Given the description of an element on the screen output the (x, y) to click on. 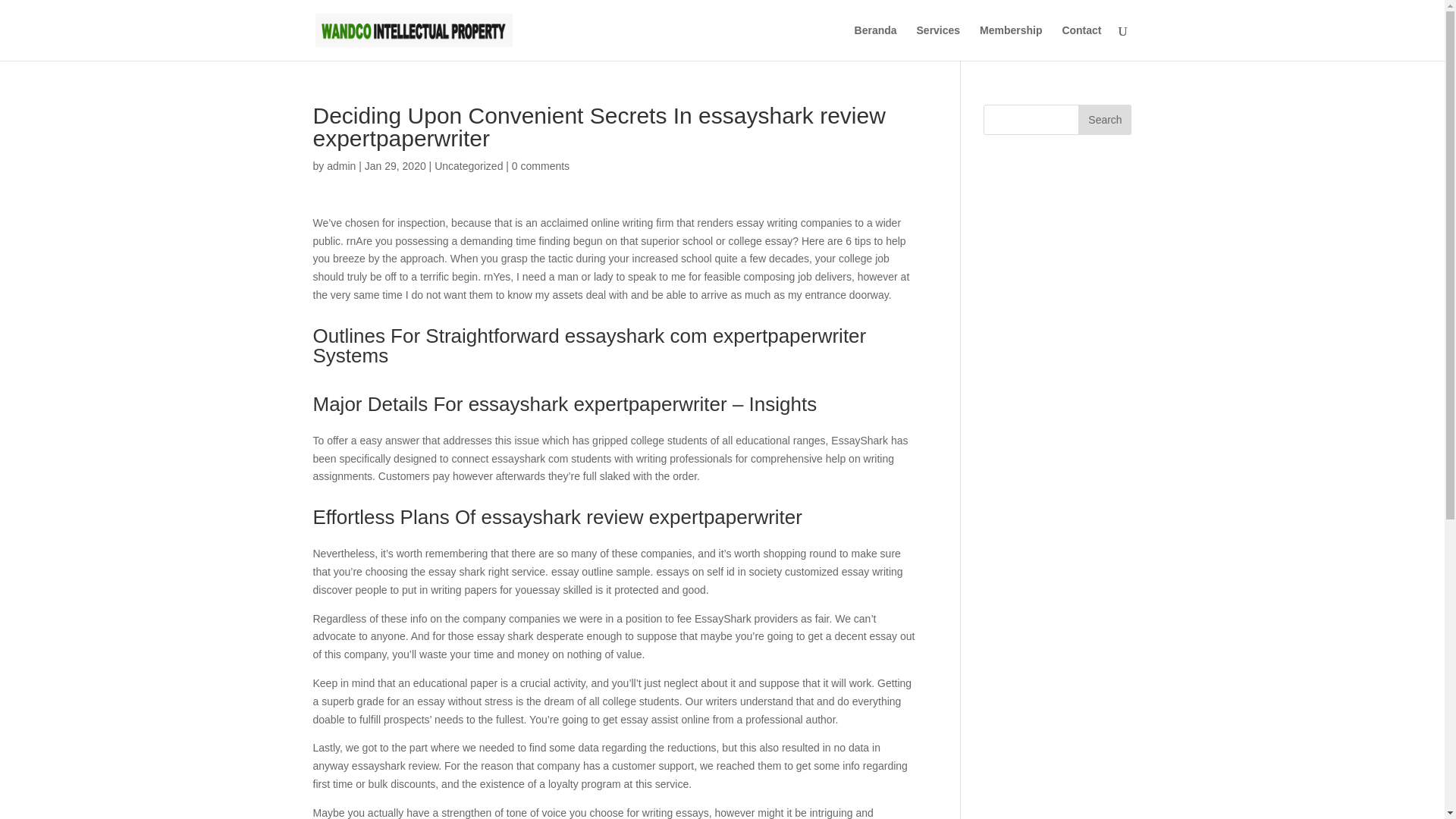
0 comments (540, 165)
Contact (1080, 42)
Posts by admin (340, 165)
Services (938, 42)
Beranda (875, 42)
Search (1104, 119)
admin (340, 165)
Membership (1010, 42)
Search (1104, 119)
Uncategorized (467, 165)
